Given the description of an element on the screen output the (x, y) to click on. 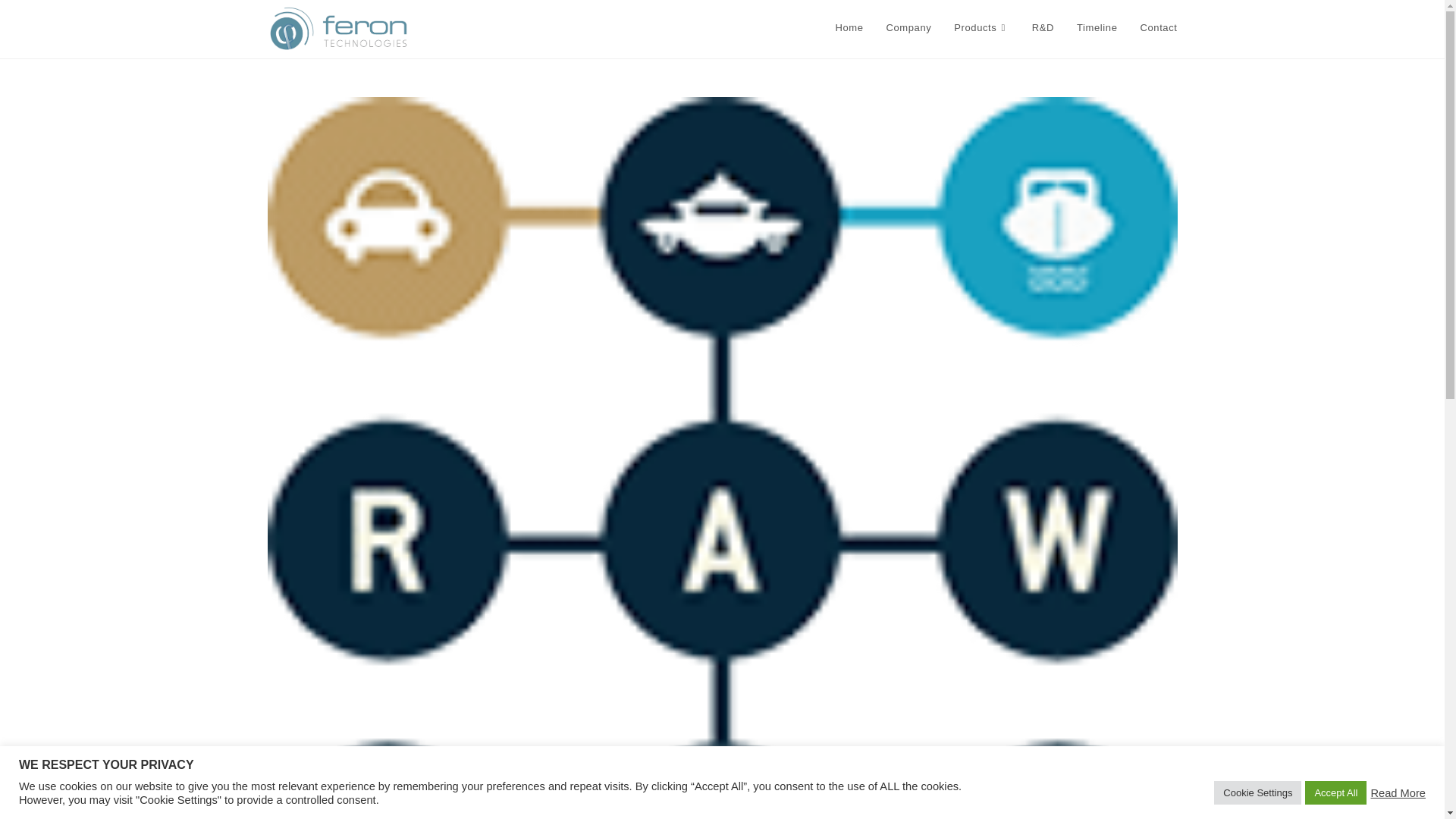
Accept All (1335, 792)
Cookie Settings (1257, 792)
Products (981, 28)
Read More (1397, 792)
Timeline (1096, 28)
Company (908, 28)
Contact (1158, 28)
Home (849, 28)
